Given the description of an element on the screen output the (x, y) to click on. 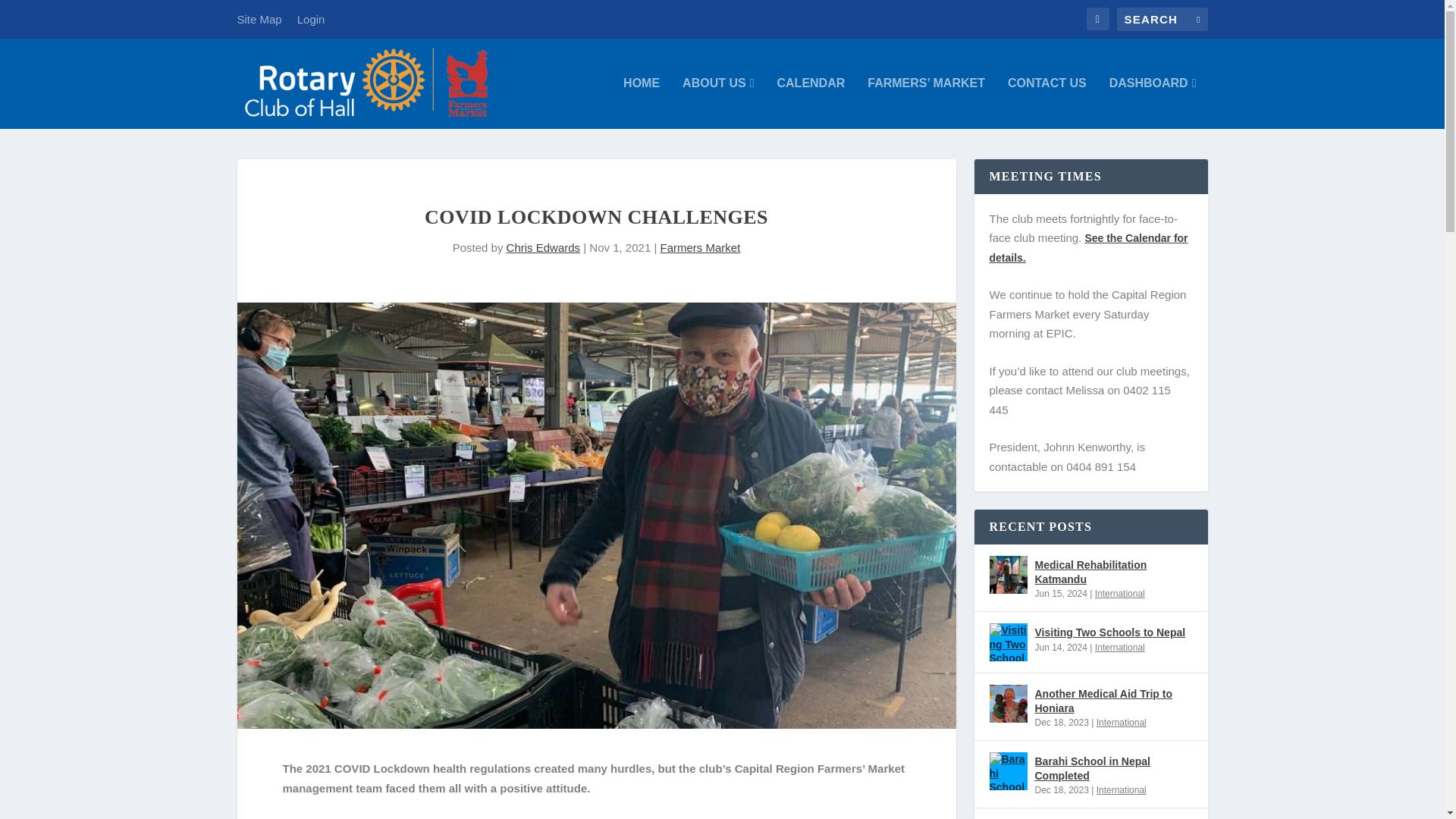
Posts by Chris Edwards (543, 246)
Search for: (1161, 19)
Farmers Market (699, 246)
ABOUT US (718, 102)
CONTACT US (1046, 102)
CALENDAR (810, 102)
Chris Edwards (543, 246)
DASHBOARD (1152, 102)
Site Map (258, 19)
